Given the description of an element on the screen output the (x, y) to click on. 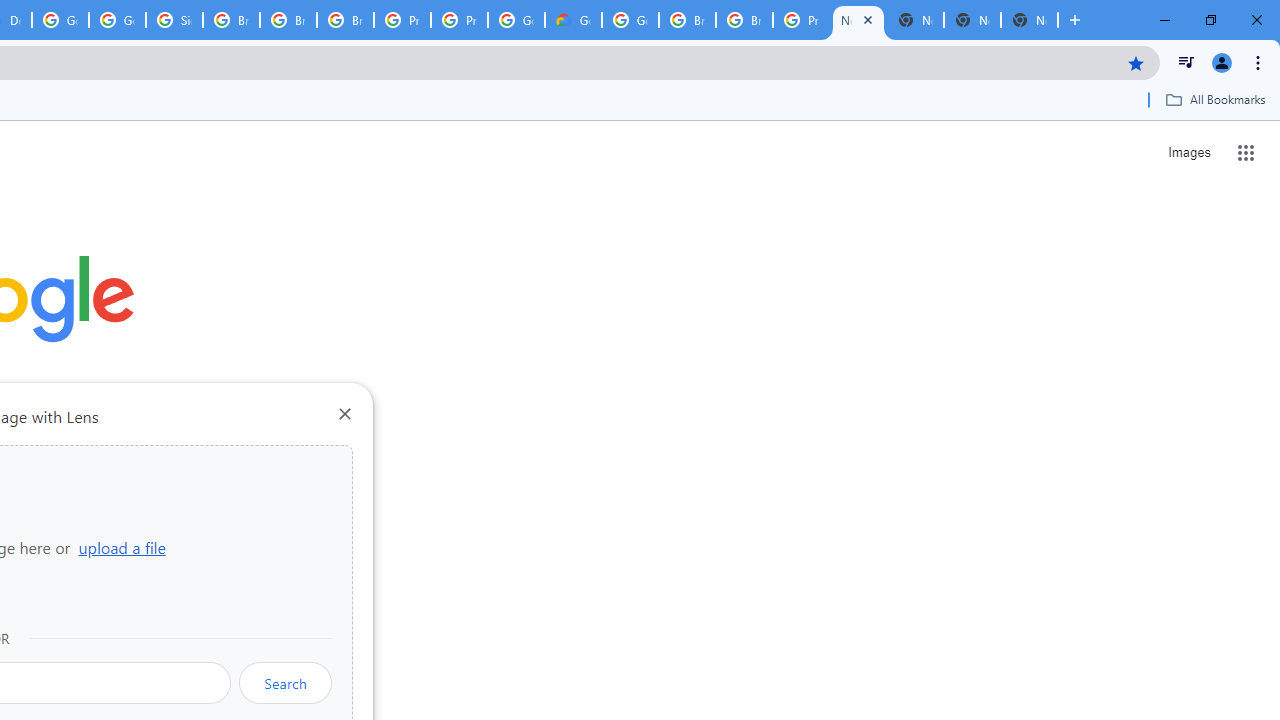
Google Cloud Estimate Summary (573, 20)
Browse Chrome as a guest - Computer - Google Chrome Help (231, 20)
Google Cloud Platform (630, 20)
Google Cloud Platform (60, 20)
Sign in - Google Accounts (174, 20)
Browse Chrome as a guest - Computer - Google Chrome Help (288, 20)
